Given the description of an element on the screen output the (x, y) to click on. 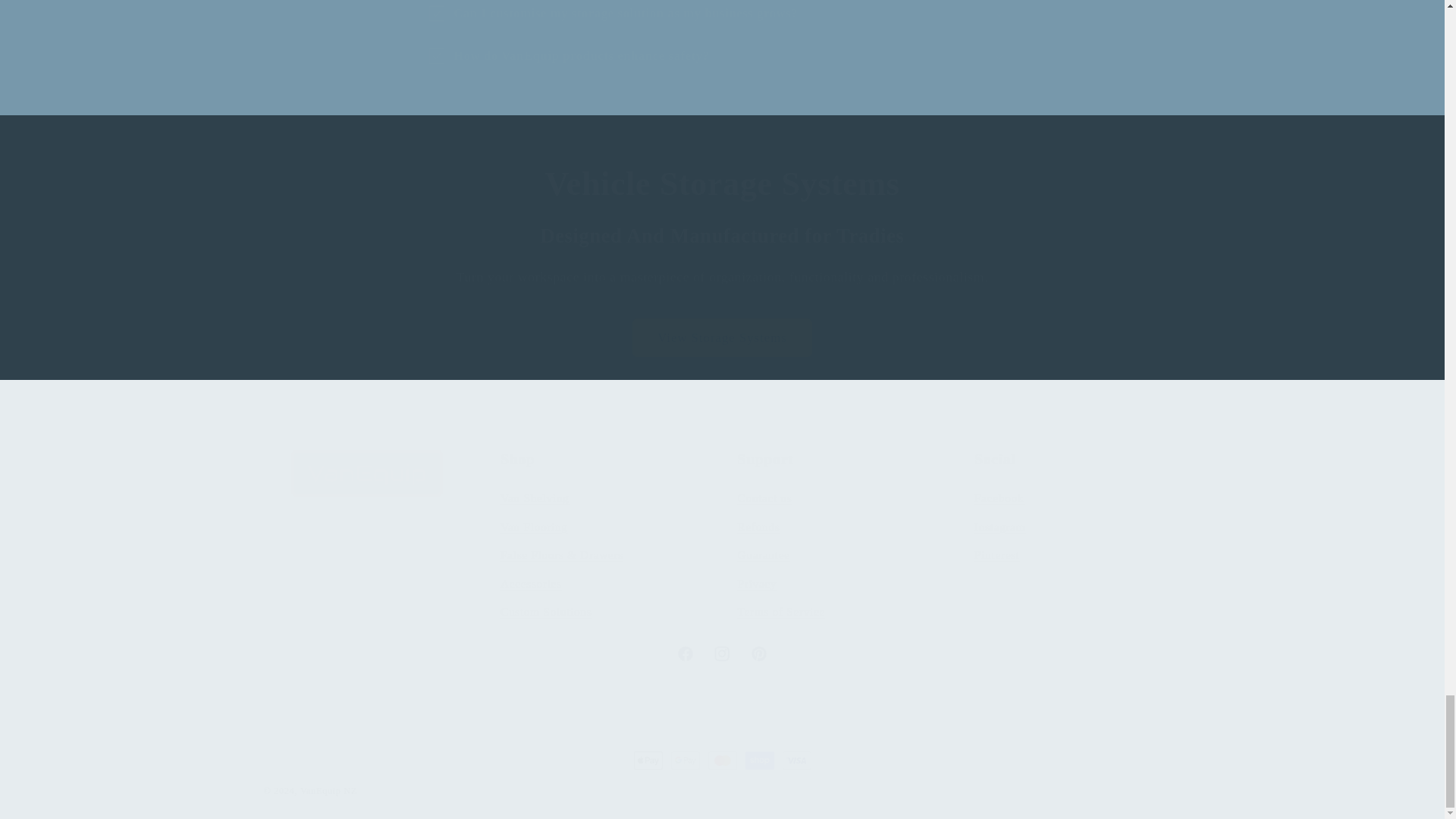
View Storage Systems (722, 337)
Designed And Manufactured for Tradies (722, 235)
Vehicle Storage Systems (1077, 537)
